Given the description of an element on the screen output the (x, y) to click on. 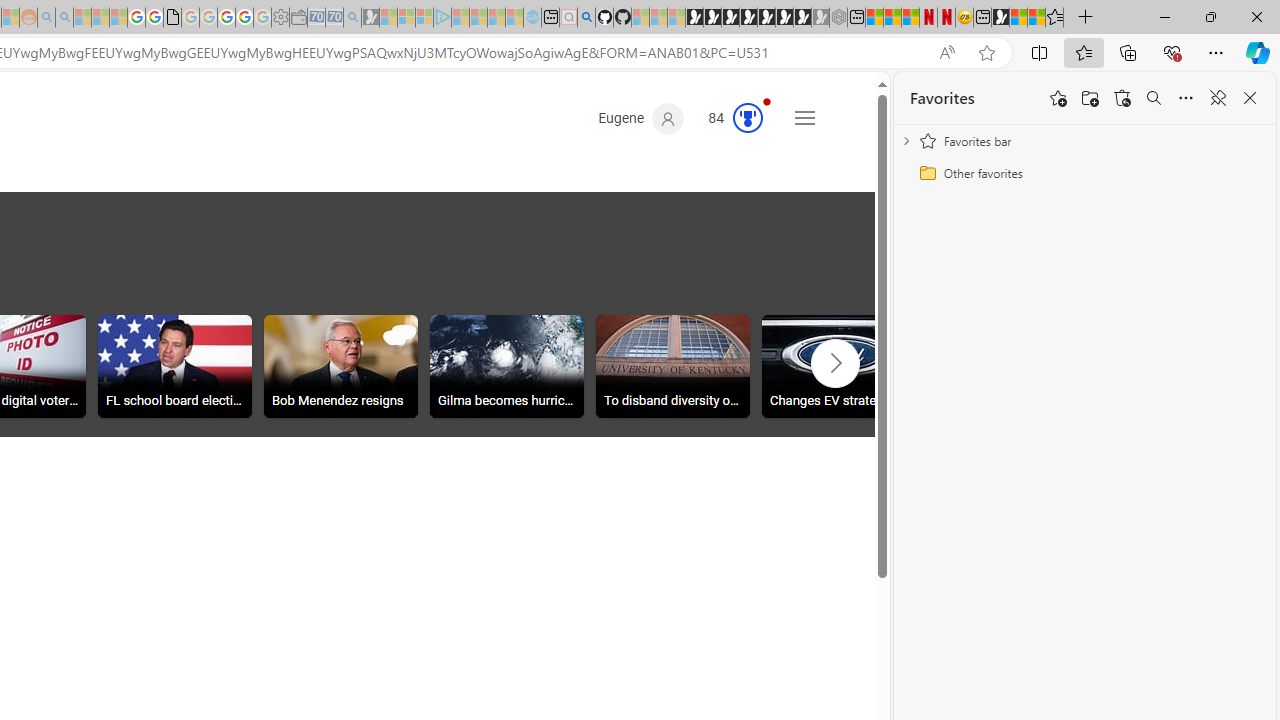
Restore deleted favorites (1122, 98)
AutomationID: tob_right_arrow (834, 363)
To disband diversity office (673, 369)
Search favorites (1153, 98)
